Given the description of an element on the screen output the (x, y) to click on. 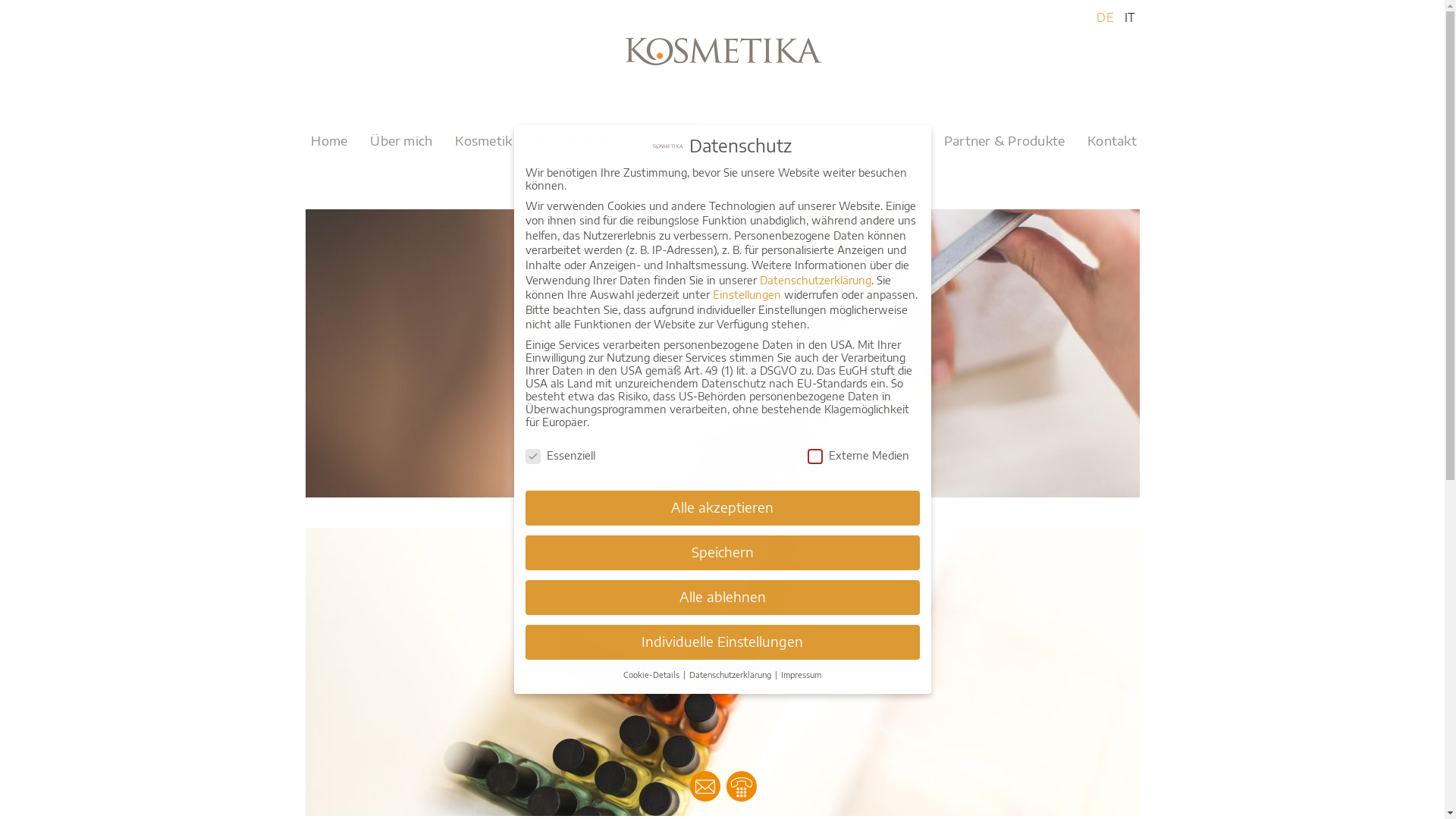
Kosmetik Element type: text (483, 140)
DE Element type: text (1104, 17)
Kontakt Element type: text (1112, 140)
Einstellungen Element type: text (746, 294)
Impressum Element type: text (801, 674)
Alle ablehnen Element type: text (721, 597)
Partner & Produkte Element type: text (1004, 140)
Individuelle Einstellungen Element type: text (721, 641)
IT Element type: text (1129, 17)
Radiofrequenz Element type: text (677, 140)
Depilation Element type: text (776, 140)
Cookie-Details Element type: text (652, 674)
Home Element type: text (328, 140)
Alle akzeptieren Element type: text (721, 507)
Laser Epilation Element type: text (875, 140)
Speichern Element type: text (721, 552)
